Given the description of an element on the screen output the (x, y) to click on. 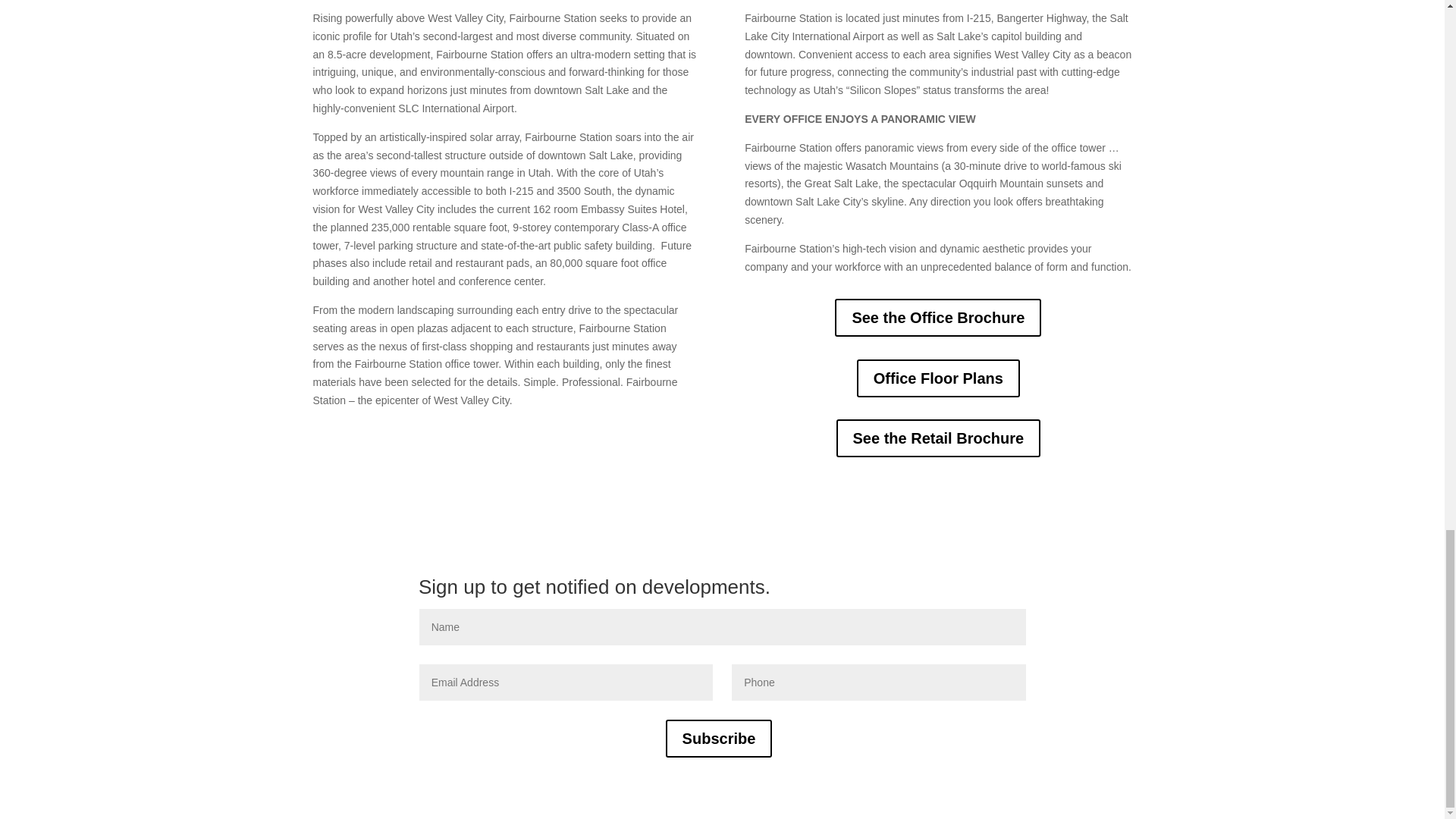
See the Retail Brochure (938, 438)
See the Office Brochure (937, 317)
Office Floor Plans (938, 378)
Subscribe (719, 738)
